Given the description of an element on the screen output the (x, y) to click on. 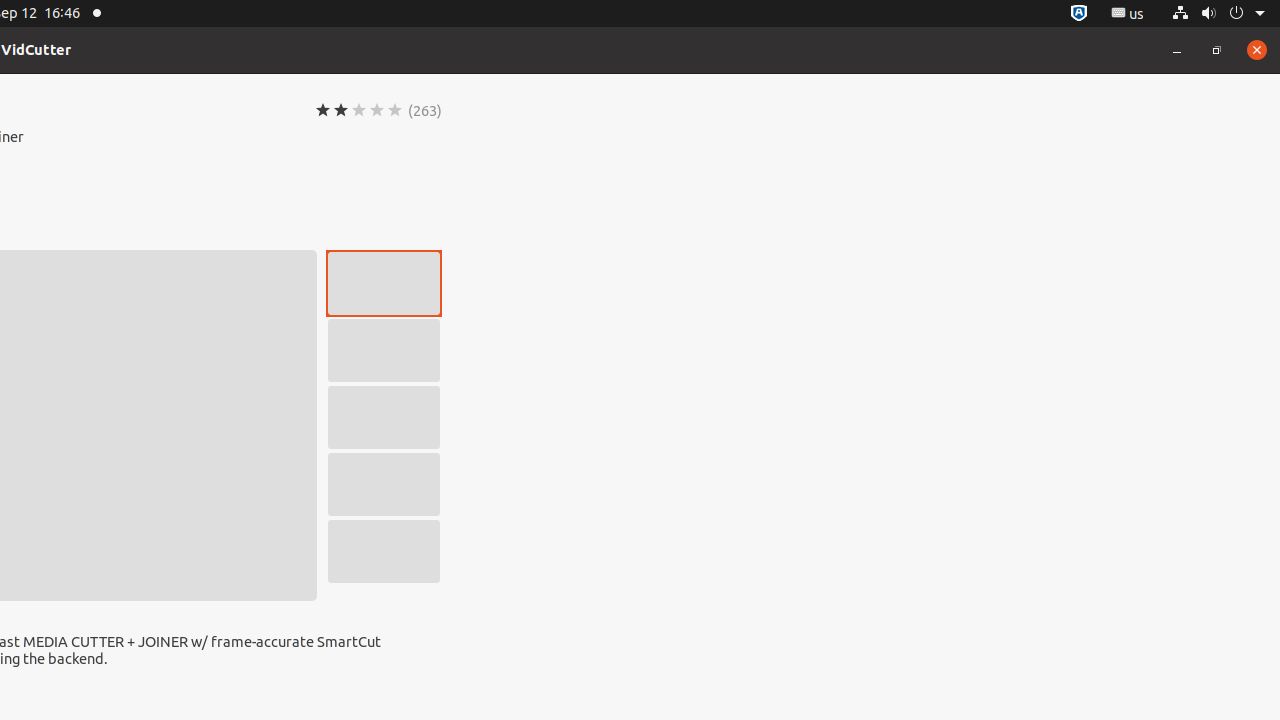
Close Element type: push-button (1257, 50)
Restore Element type: push-button (1217, 50)
